Given the description of an element on the screen output the (x, y) to click on. 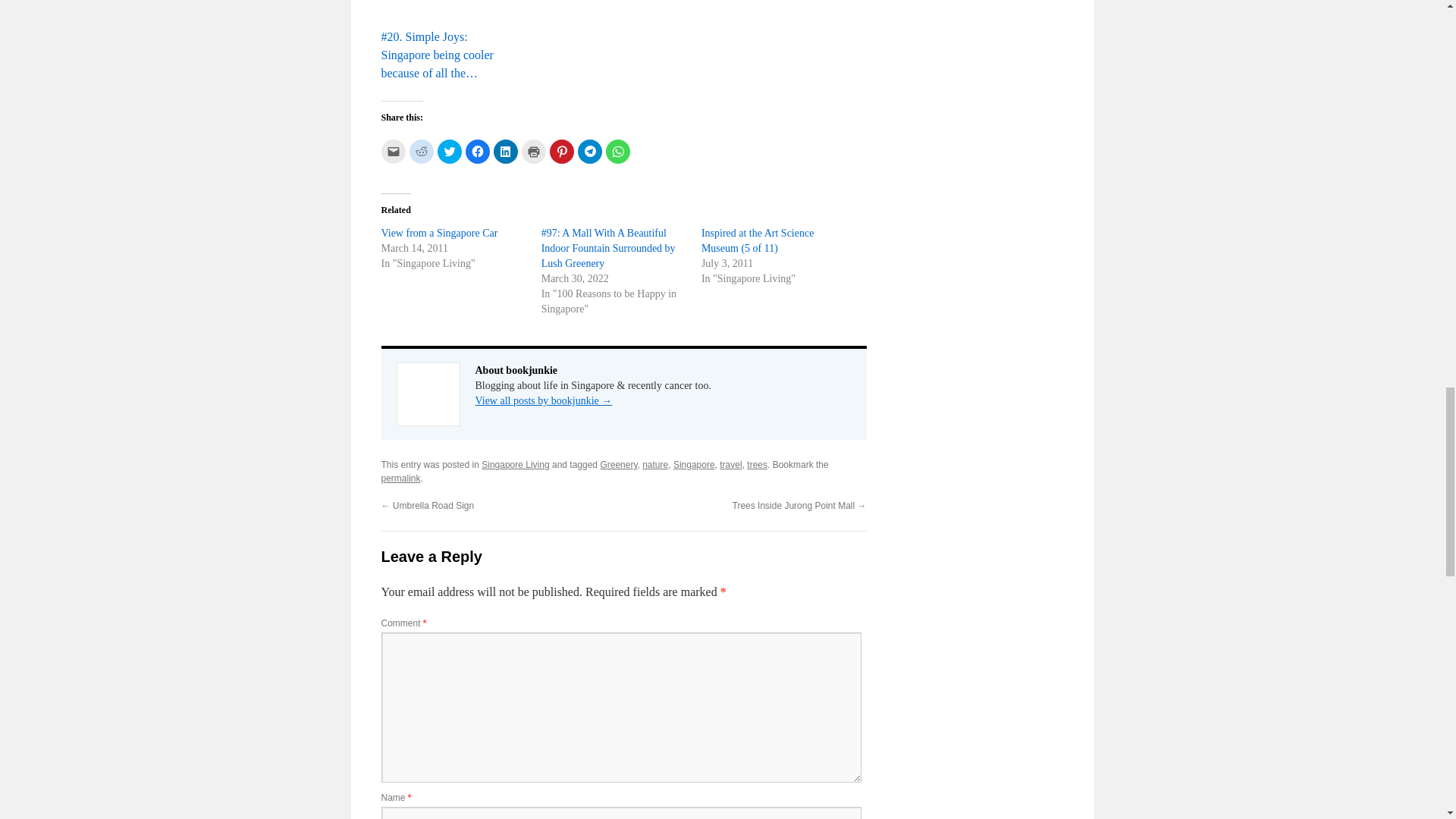
Click to share on Reddit (421, 151)
Singapore (693, 464)
Click to email a link to a friend (392, 151)
nature (655, 464)
Click to share on Twitter (448, 151)
Singapore Living (514, 464)
Click to share on Facebook (477, 151)
travel (730, 464)
Greenery (618, 464)
View from a Singapore Car (438, 233)
